Given the description of an element on the screen output the (x, y) to click on. 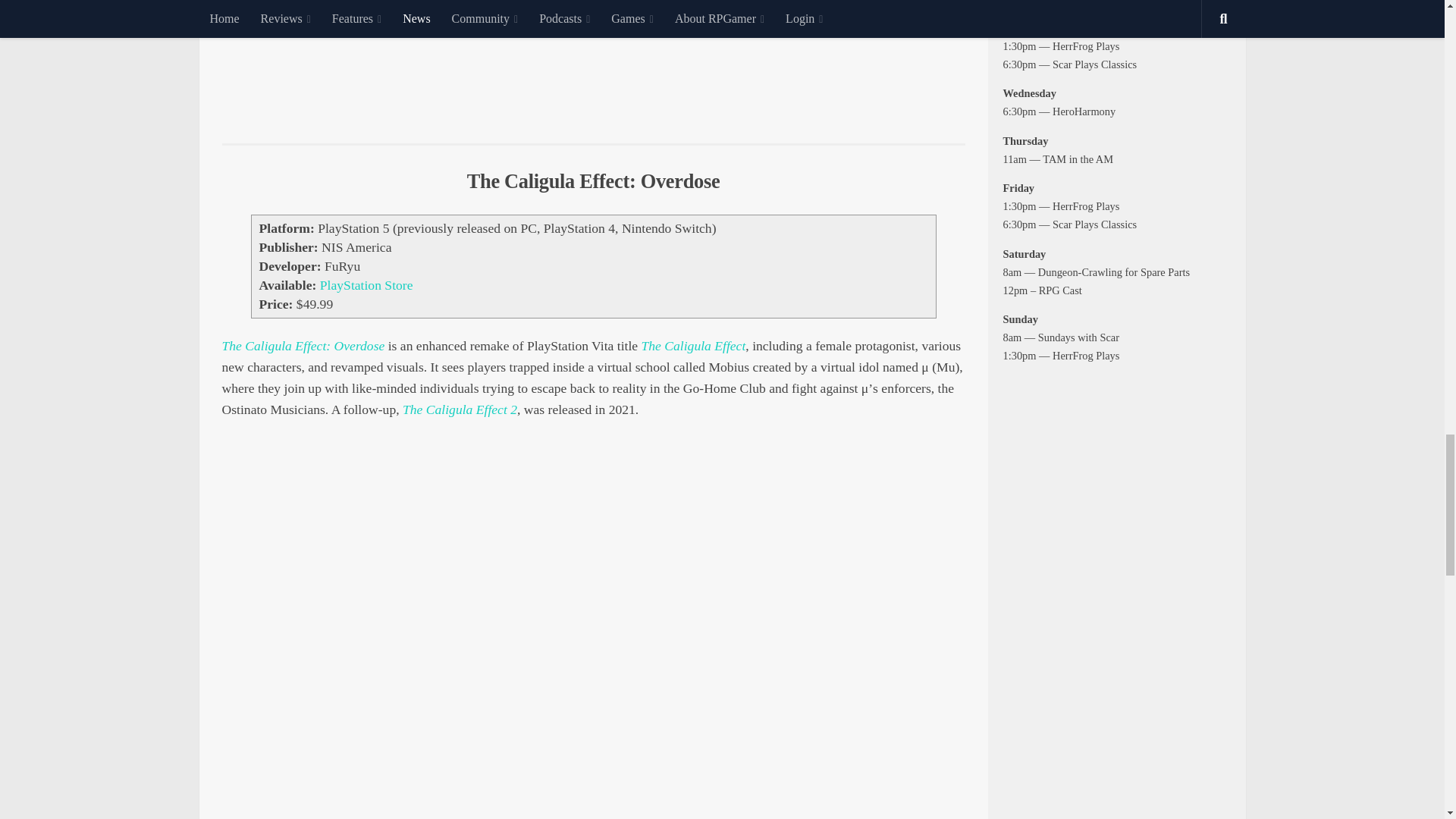
YouTube video player (592, 60)
